Given the description of an element on the screen output the (x, y) to click on. 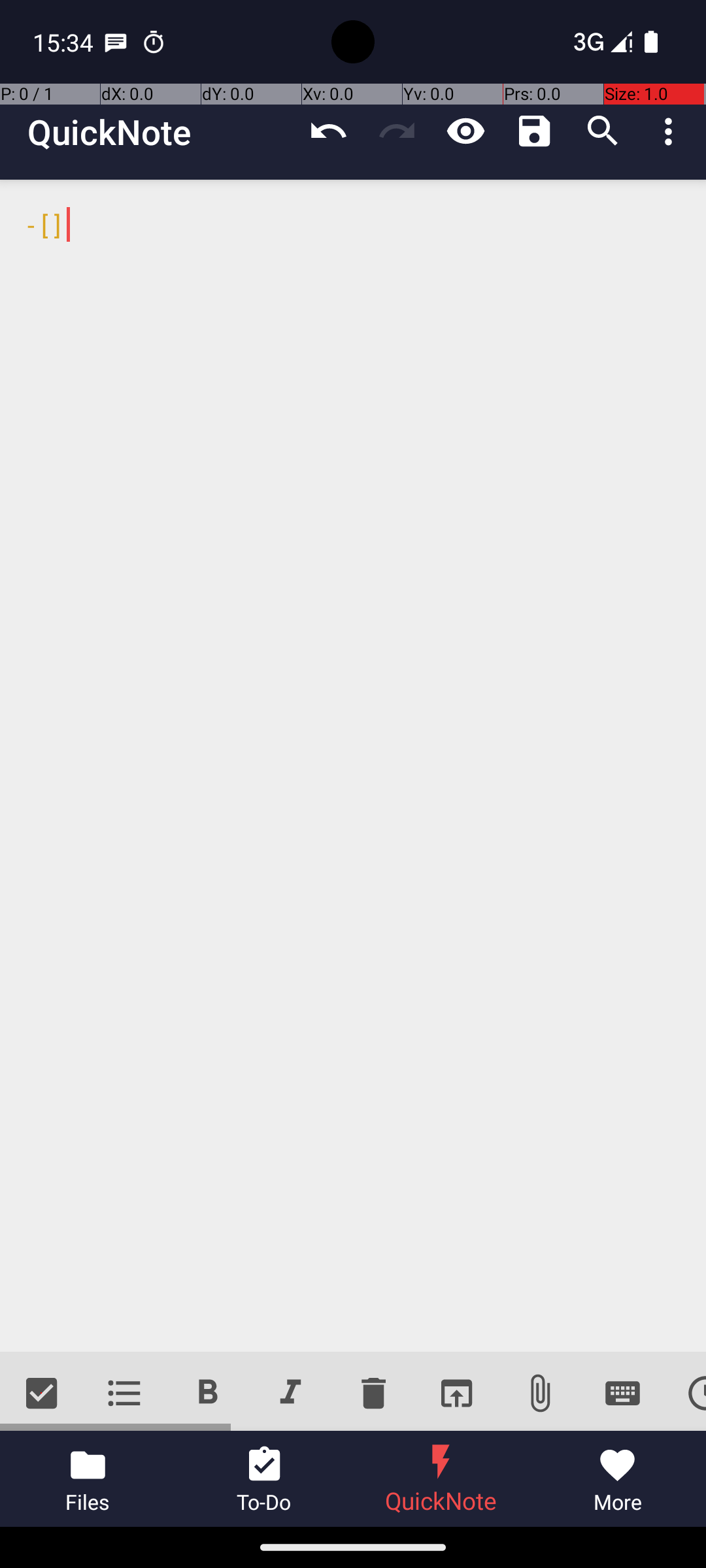
- [ ]  Element type: android.widget.EditText (353, 765)
